Given the description of an element on the screen output the (x, y) to click on. 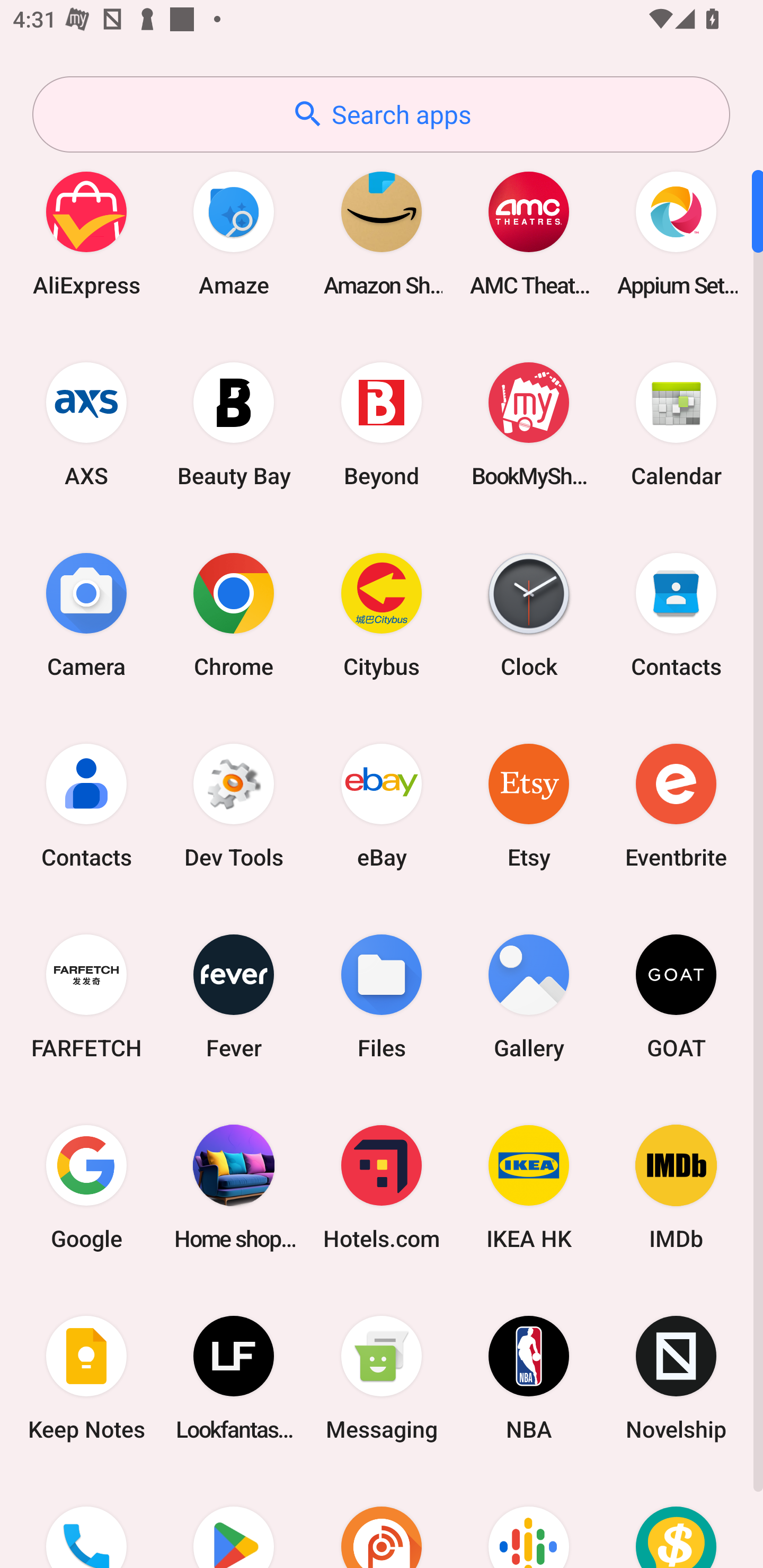
  Search apps (381, 114)
AliExpress (86, 233)
Amaze (233, 233)
Amazon Shopping (381, 233)
AMC Theatres (528, 233)
Appium Settings (676, 233)
AXS (86, 424)
Beauty Bay (233, 424)
Beyond (381, 424)
BookMyShow (528, 424)
Calendar (676, 424)
Camera (86, 614)
Chrome (233, 614)
Citybus (381, 614)
Clock (528, 614)
Contacts (676, 614)
Contacts (86, 805)
Dev Tools (233, 805)
eBay (381, 805)
Etsy (528, 805)
Eventbrite (676, 805)
FARFETCH (86, 996)
Fever (233, 996)
Files (381, 996)
Gallery (528, 996)
GOAT (676, 996)
Google (86, 1186)
Home shopping (233, 1186)
Hotels.com (381, 1186)
IKEA HK (528, 1186)
IMDb (676, 1186)
Keep Notes (86, 1377)
Lookfantastic (233, 1377)
Messaging (381, 1377)
NBA (528, 1377)
Novelship (676, 1377)
Phone (86, 1520)
Play Store (233, 1520)
Podcast Addict (381, 1520)
Podcasts (528, 1520)
Price (676, 1520)
